Given the description of an element on the screen output the (x, y) to click on. 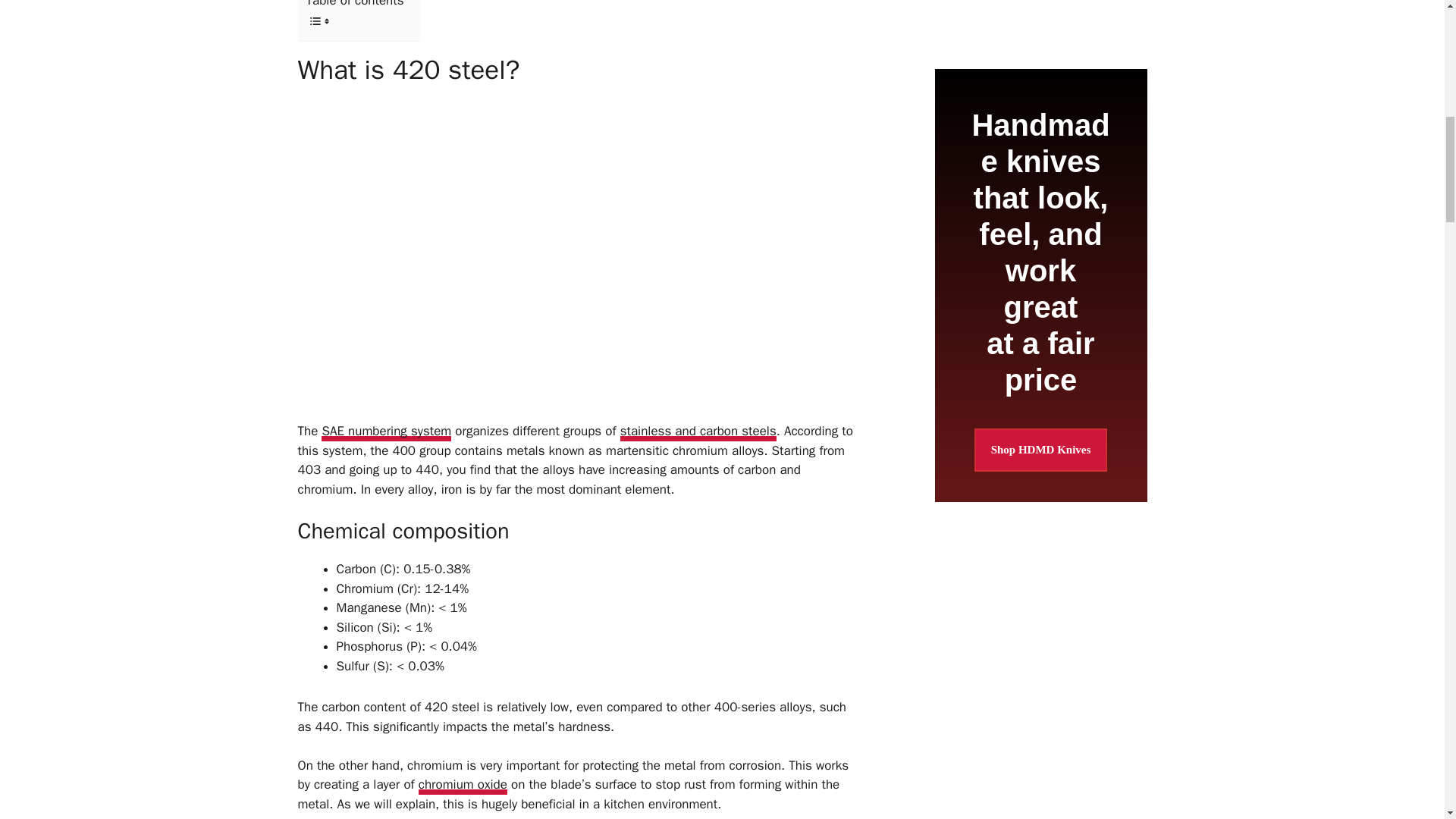
SAE numbering system (386, 432)
chromium oxide (462, 785)
stainless and carbon steels (698, 432)
